Given the description of an element on the screen output the (x, y) to click on. 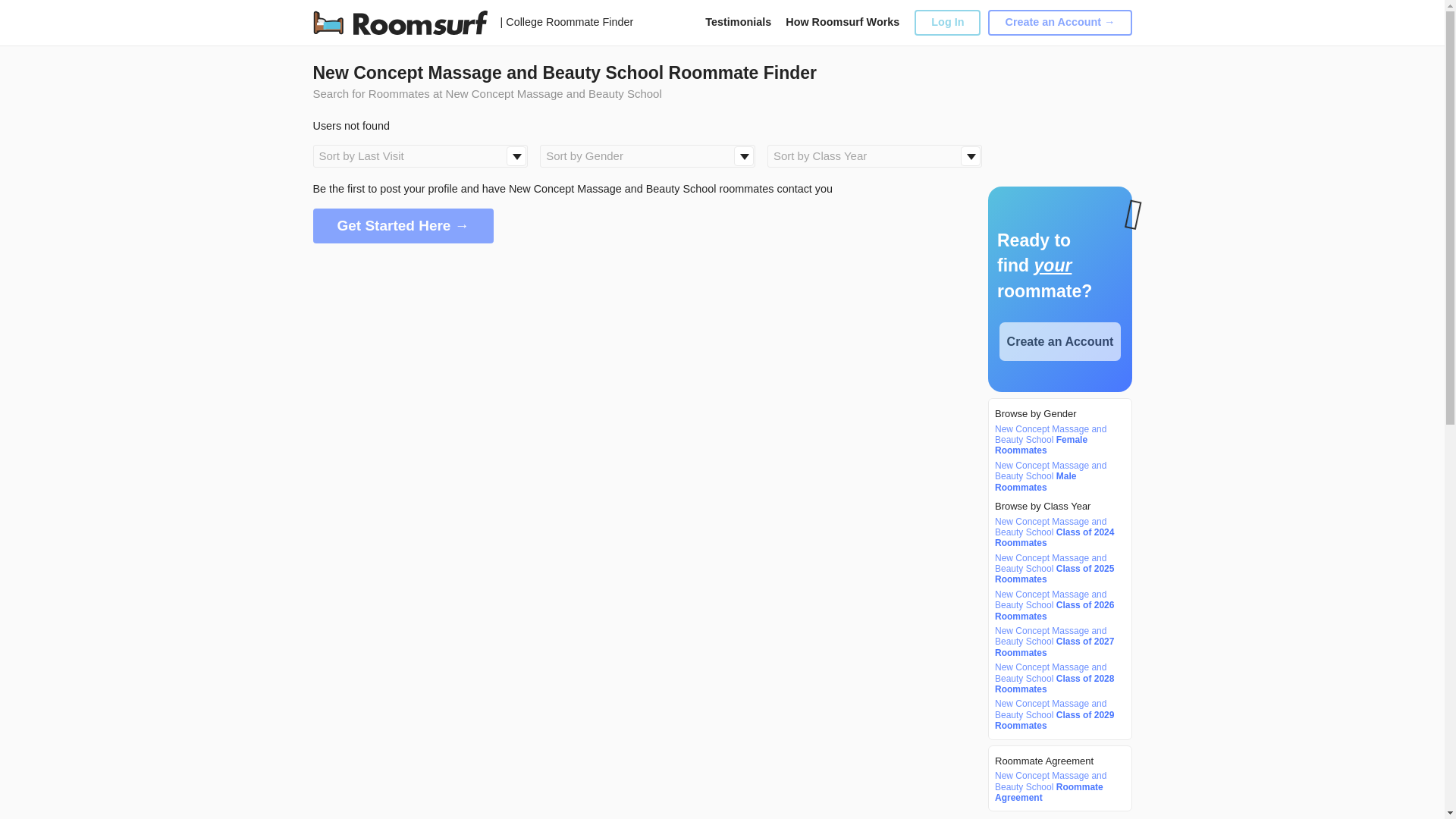
New Concept Massage and Beauty School Female Roommates (1057, 440)
New Concept Massage and Beauty School Male Roommates (1057, 476)
Create an Account (1059, 341)
How Roomsurf Works (842, 21)
Testimonials (737, 21)
Log In (946, 22)
New Concept Massage and Beauty School Roommate Agreement (1057, 786)
